Given the description of an element on the screen output the (x, y) to click on. 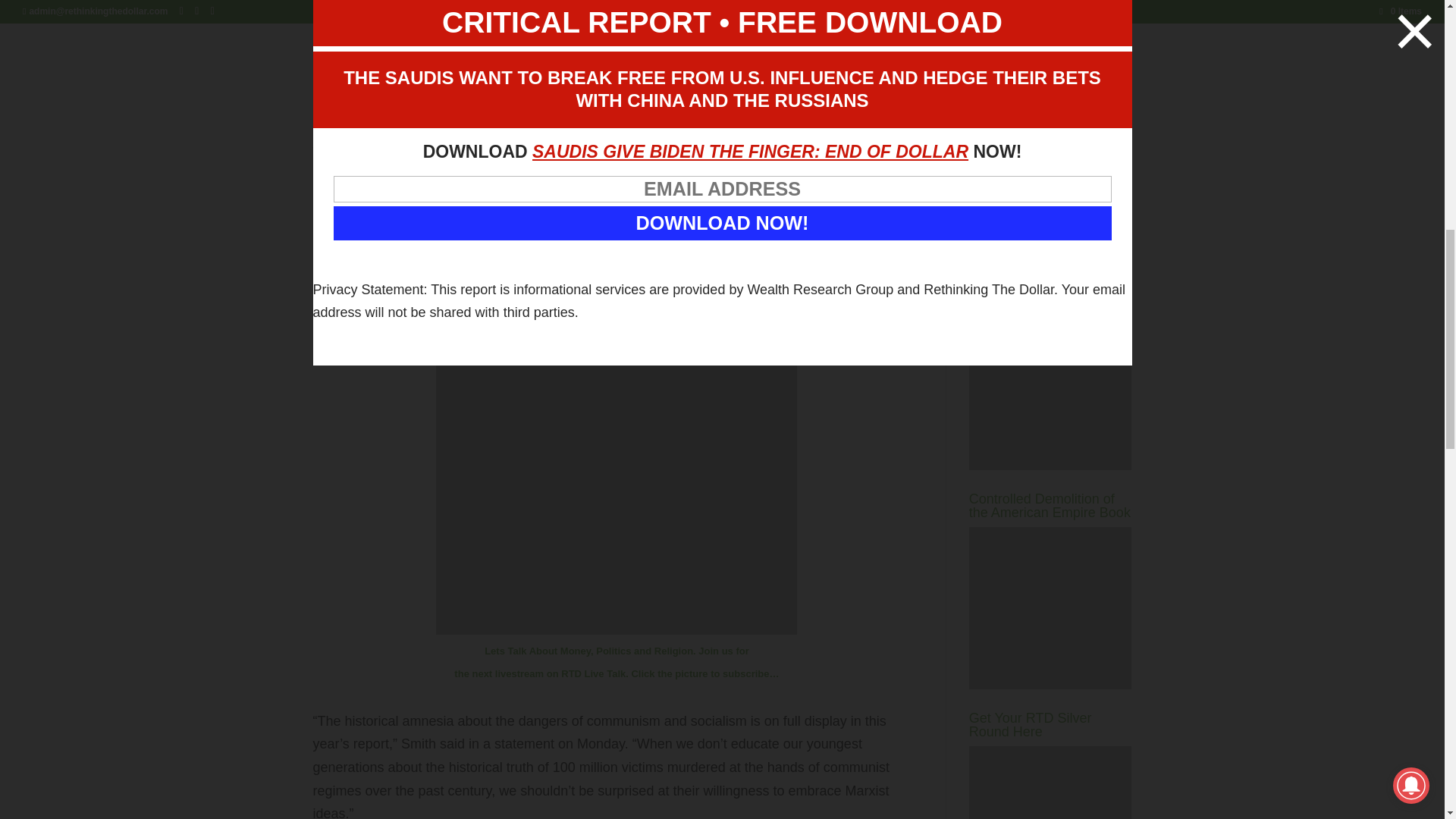
Subscribe (997, 27)
Subscribe (997, 27)
